Given the description of an element on the screen output the (x, y) to click on. 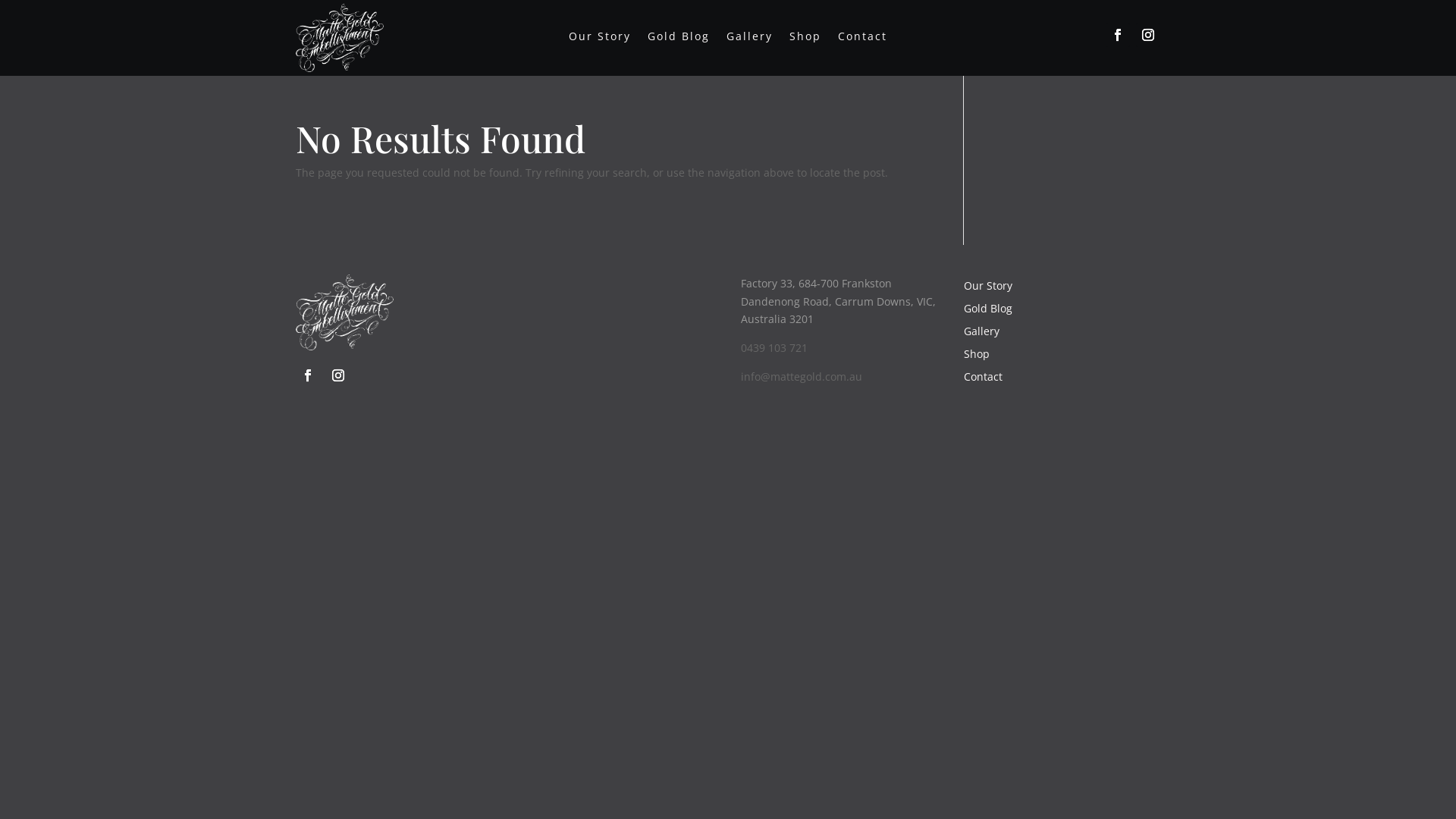
Follow on Instagram Element type: hover (1147, 34)
Follow on Instagram Element type: hover (338, 375)
Gallery Element type: text (981, 334)
Our Story Element type: text (987, 288)
Gold Blog Element type: text (678, 39)
Shop Element type: text (805, 39)
Gold Blog Element type: text (987, 311)
logo Element type: hover (344, 312)
Contact Element type: text (862, 39)
logo Element type: hover (339, 37)
Gallery Element type: text (749, 39)
Our Story Element type: text (599, 39)
Follow on Facebook Element type: hover (307, 375)
Follow on Facebook Element type: hover (1117, 34)
Contact Element type: text (982, 379)
Shop Element type: text (976, 356)
